Given the description of an element on the screen output the (x, y) to click on. 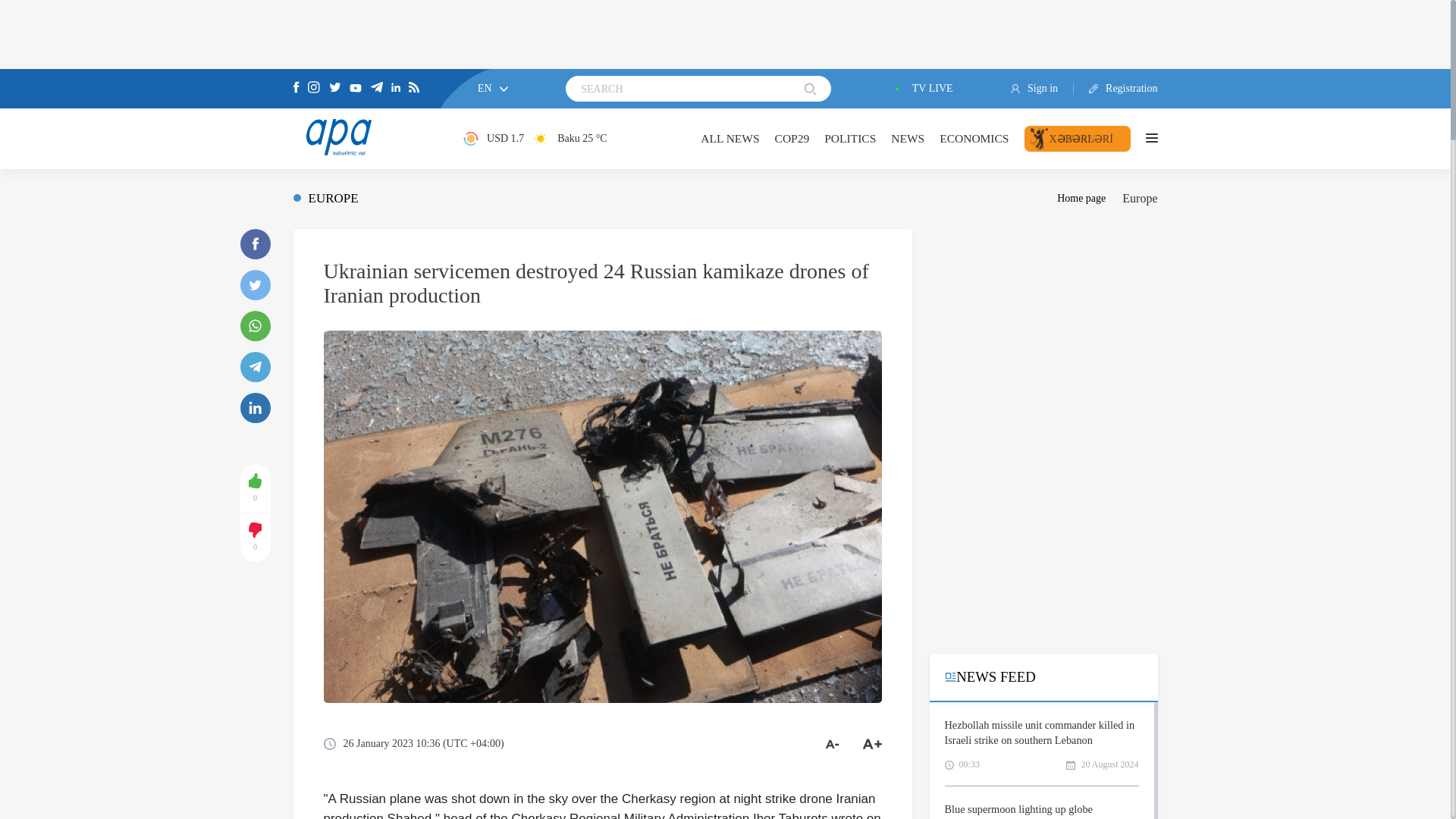
Registration (1115, 88)
ALL NEWS (729, 138)
USD 1.7 (493, 138)
COP29 (791, 138)
POLITICS (850, 138)
ECONOMICS (974, 138)
NEWS (907, 138)
TV LIVE (921, 88)
Sign in (1042, 88)
